Given the description of an element on the screen output the (x, y) to click on. 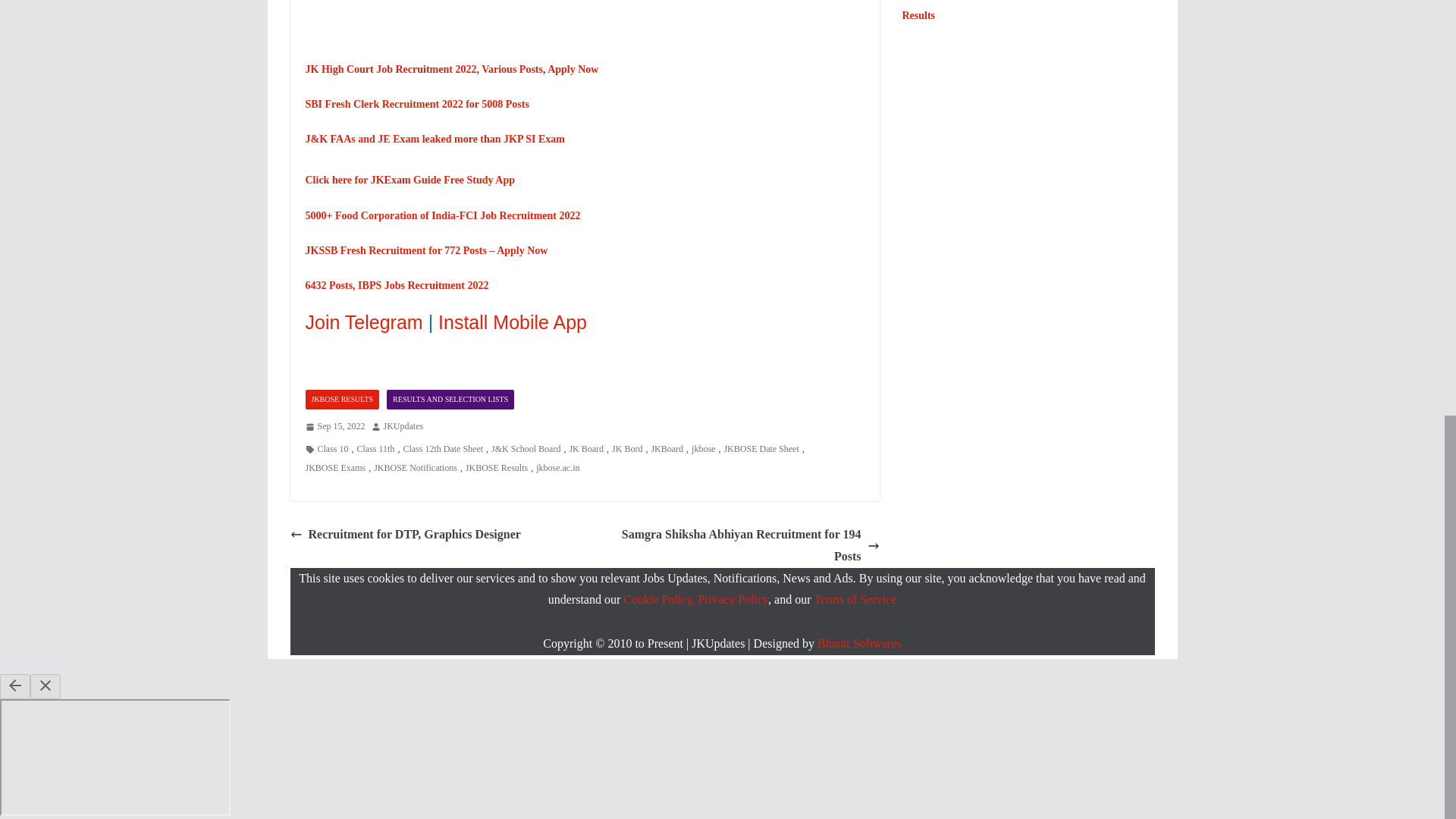
9:53 am (334, 426)
SBI Fresh Clerk Recruitment 2022 for 5008 Posts (416, 103)
JK High Court Job Recruitment 2022, Various Posts, Apply Now (451, 69)
6432 Posts, IBPS Jobs Recruitment 2022 (395, 285)
